Given the description of an element on the screen output the (x, y) to click on. 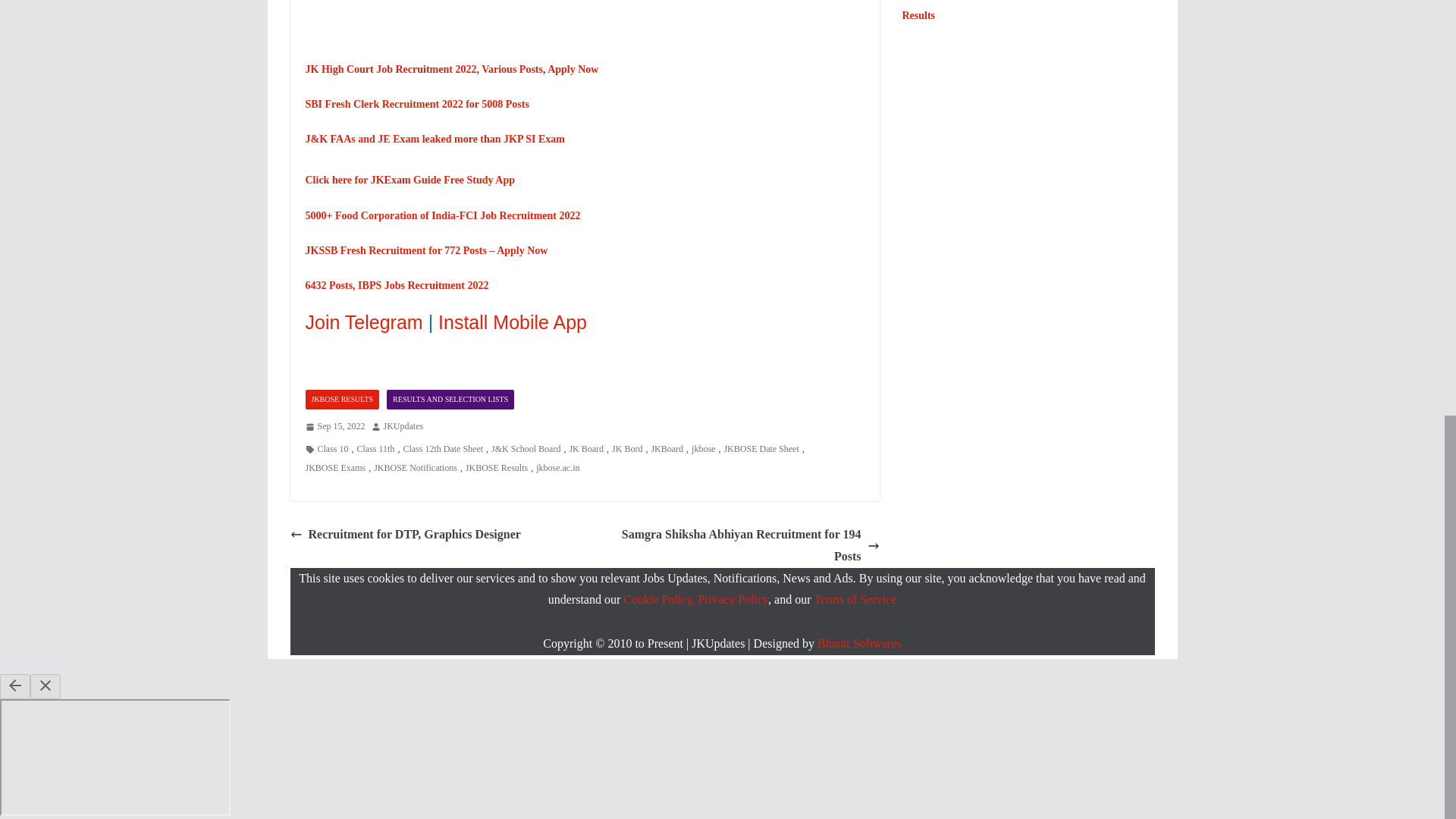
9:53 am (334, 426)
SBI Fresh Clerk Recruitment 2022 for 5008 Posts (416, 103)
JK High Court Job Recruitment 2022, Various Posts, Apply Now (451, 69)
6432 Posts, IBPS Jobs Recruitment 2022 (395, 285)
